Given the description of an element on the screen output the (x, y) to click on. 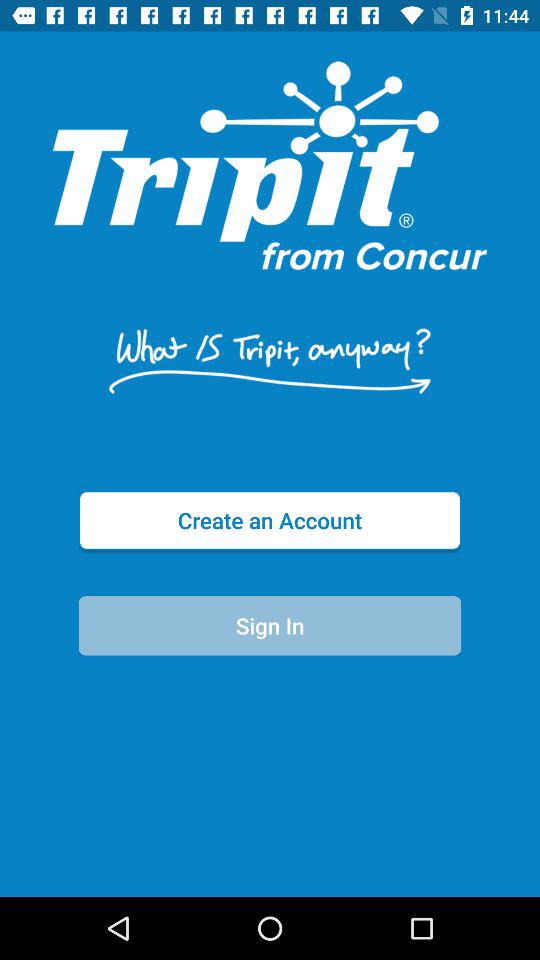
swipe to create an account item (269, 520)
